Given the description of an element on the screen output the (x, y) to click on. 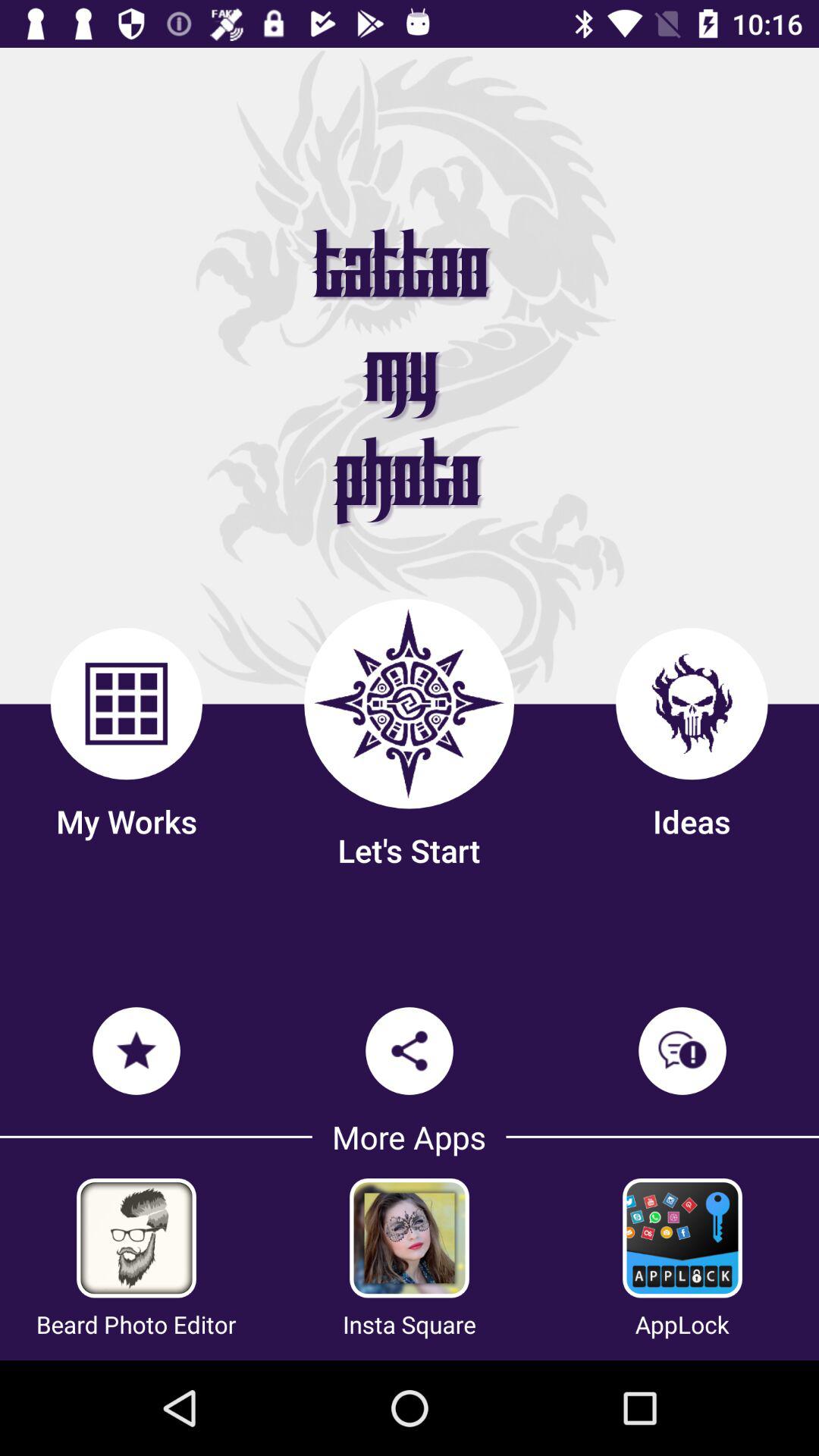
press the icon to the right of beard photo editor item (409, 1324)
